Given the description of an element on the screen output the (x, y) to click on. 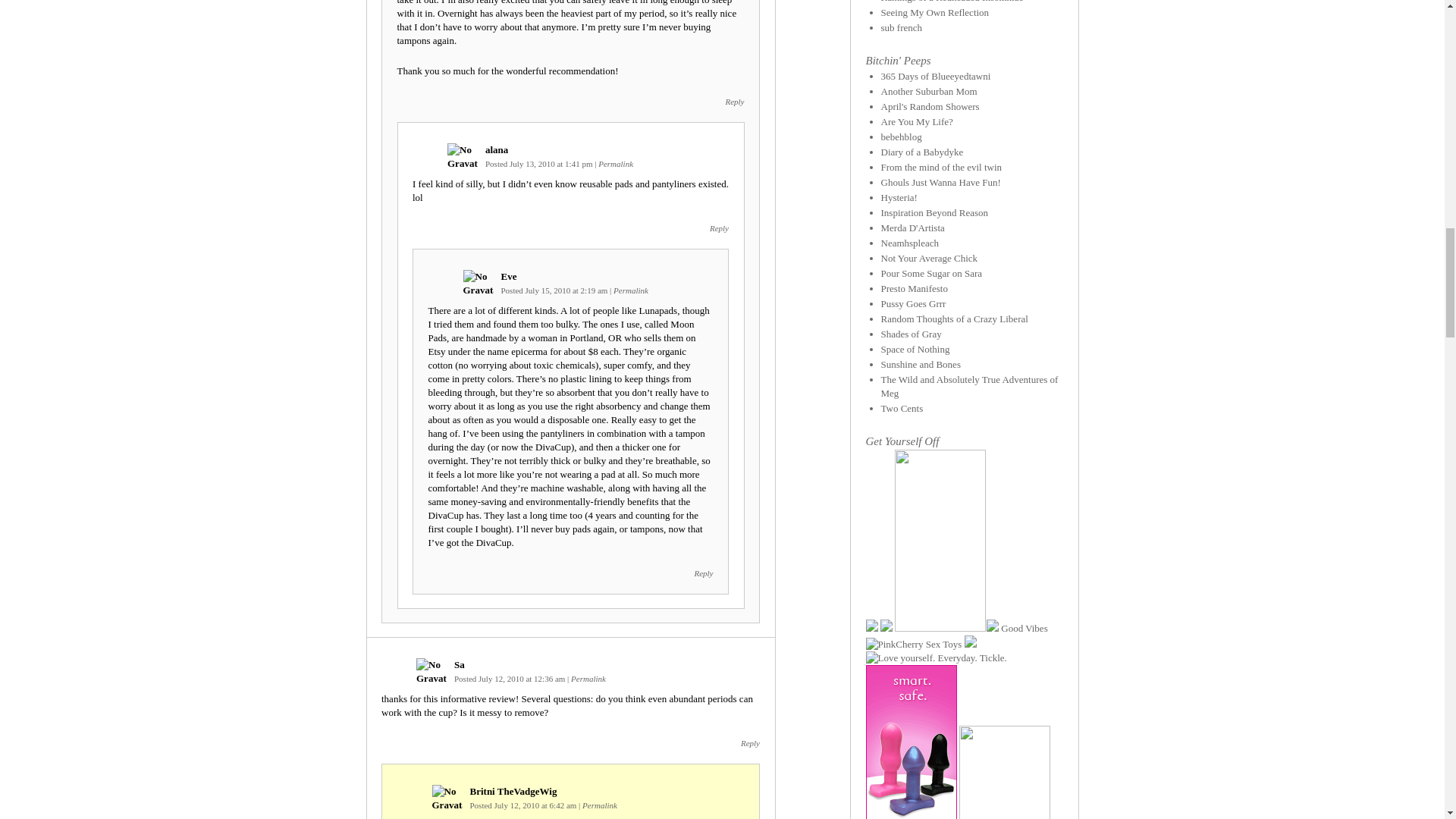
Permalink (599, 804)
Permalink (629, 289)
Permalink (587, 678)
Permalink (615, 163)
